Given the description of an element on the screen output the (x, y) to click on. 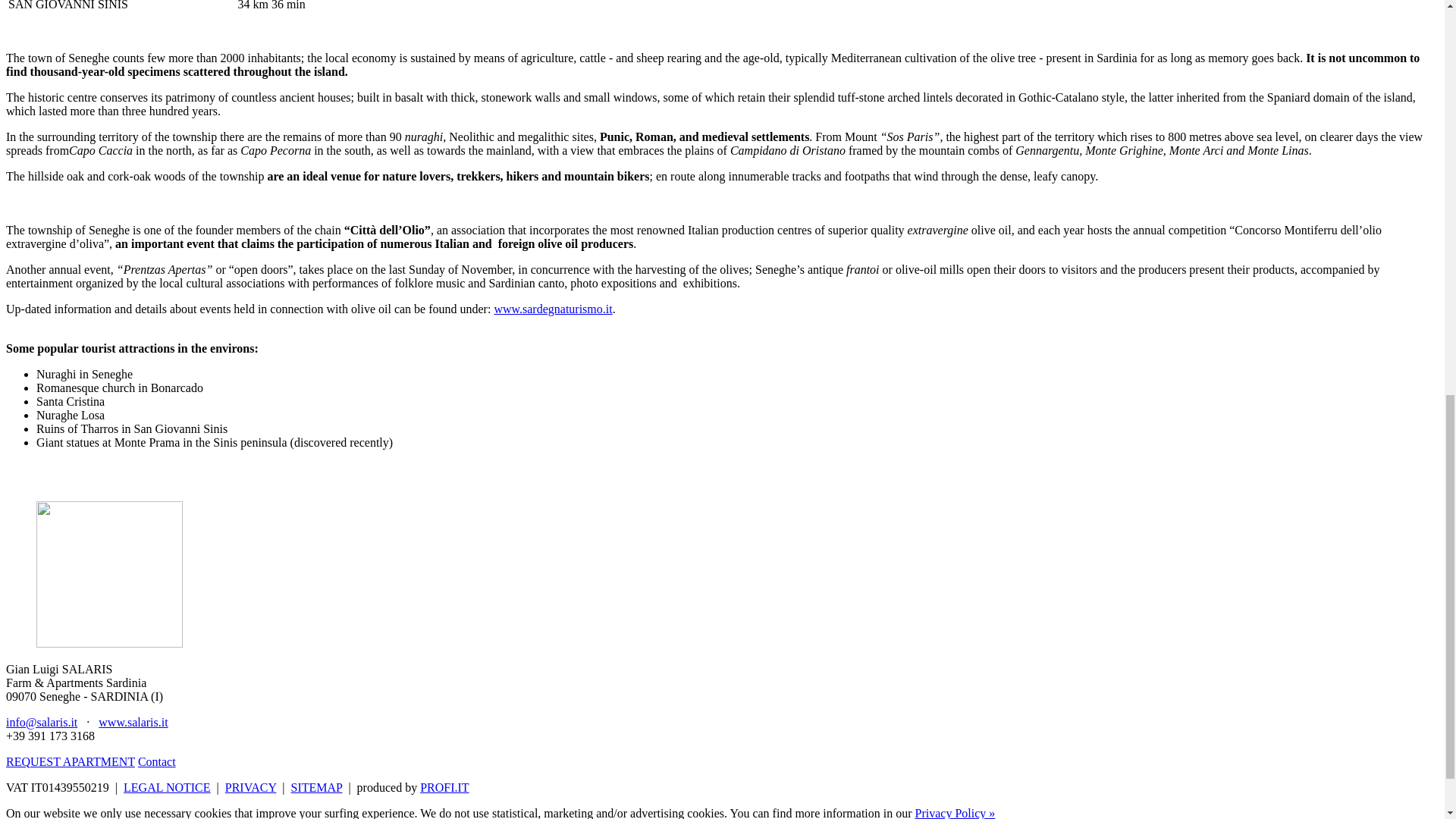
LEGAL NOTICE (167, 787)
PRIVACY (250, 787)
LEGAL NOTICE (167, 787)
PRIVACY (250, 787)
www.salaris.it (133, 721)
REQUEST APARTMENT (70, 761)
Contact (157, 761)
SITEMAP (316, 787)
SITEMAP (316, 787)
www.sardegnaturismo.it (552, 308)
